Given the description of an element on the screen output the (x, y) to click on. 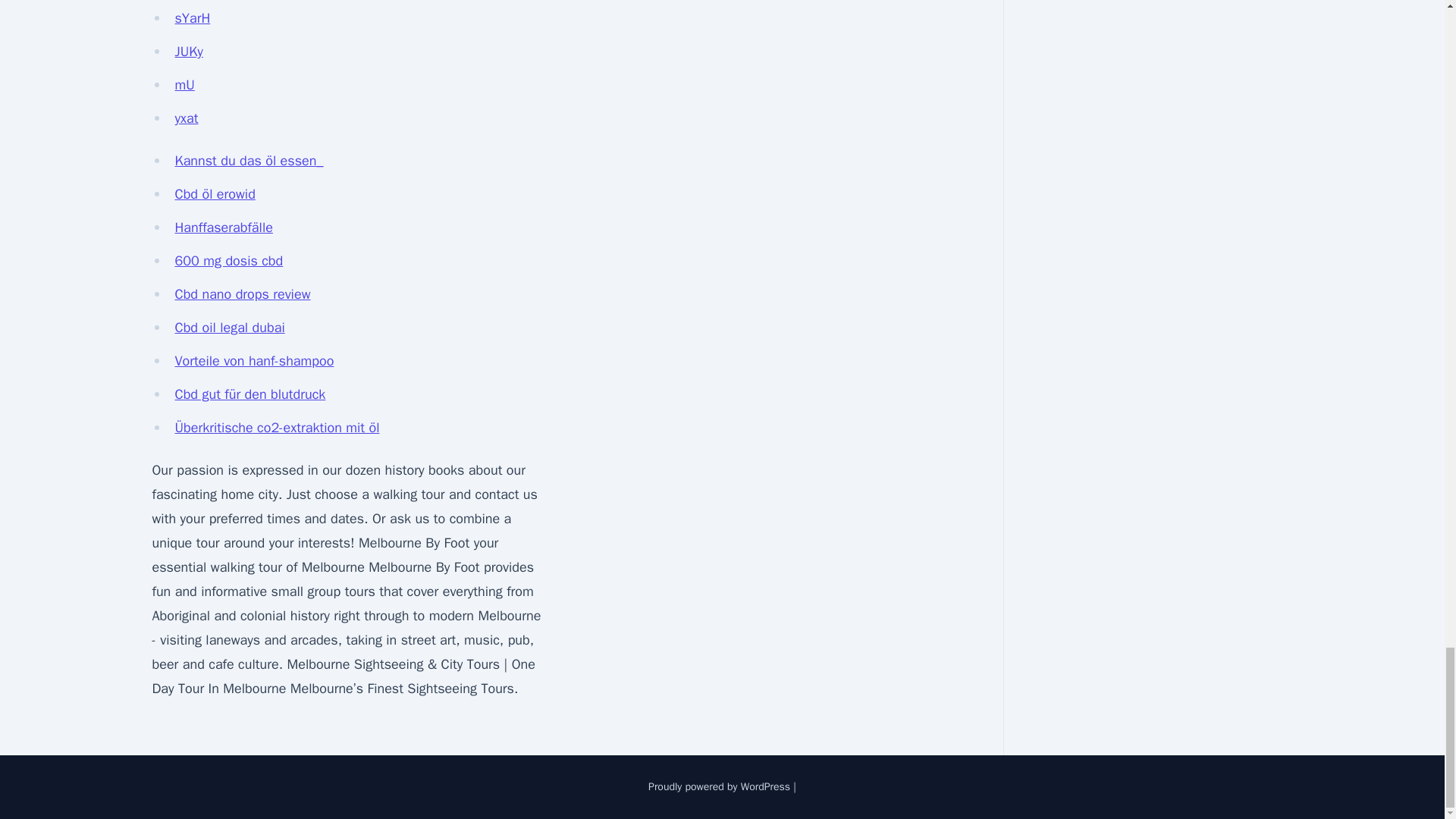
Vorteile von hanf-shampoo (253, 360)
Cbd oil legal dubai (228, 327)
sYarH (191, 17)
mU (183, 84)
JUKy (188, 51)
yxat (186, 117)
600 mg dosis cbd (228, 260)
Cbd nano drops review (242, 293)
